Given the description of an element on the screen output the (x, y) to click on. 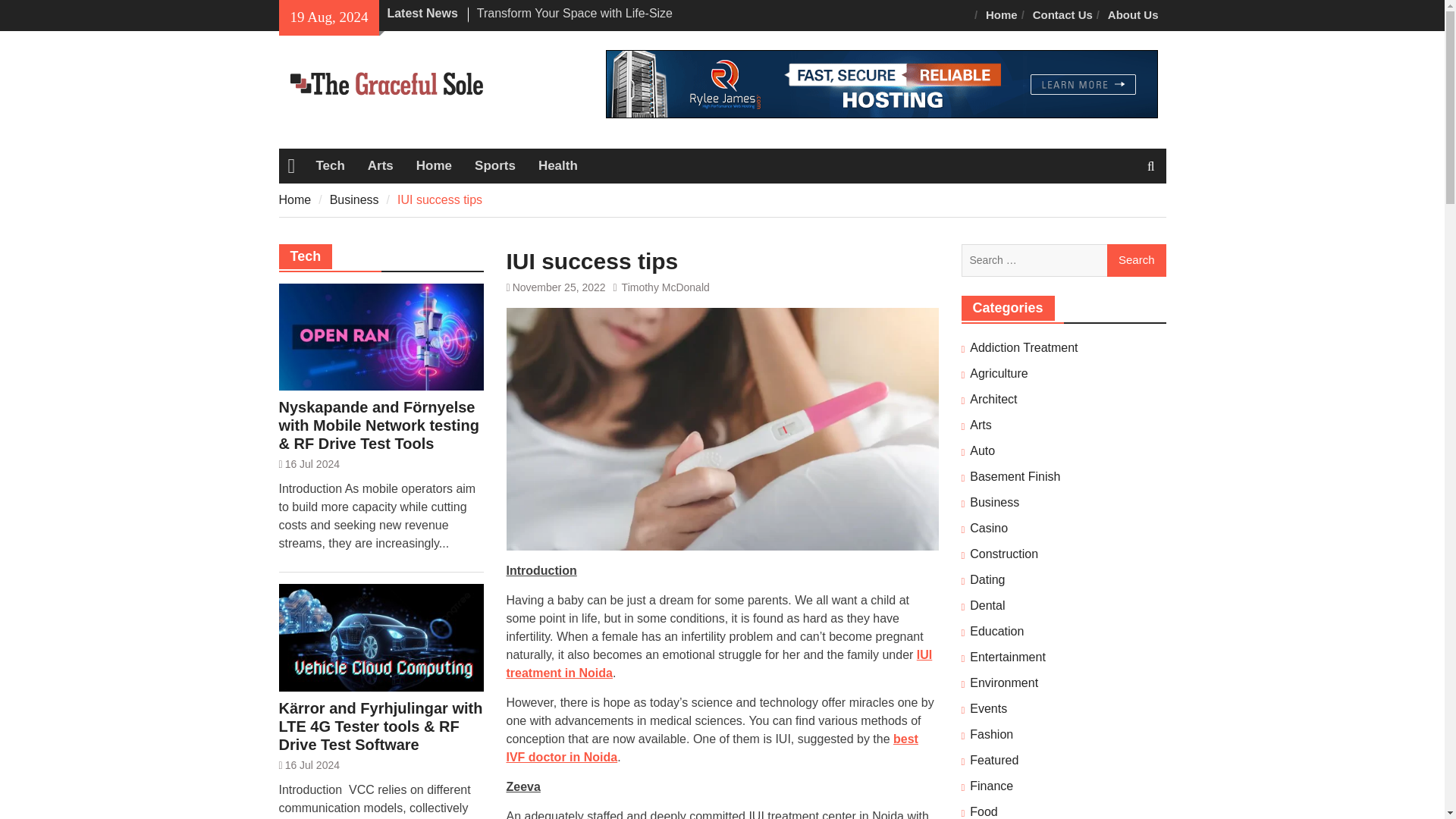
Business (354, 198)
About Us (1133, 15)
best IVF doctor in Noida (712, 747)
Construction (1003, 553)
Agriculture (998, 372)
Search (1136, 260)
Basement Finish (1014, 475)
Contact Us (1062, 15)
Auto (981, 450)
Timothy McDonald (665, 286)
